Given the description of an element on the screen output the (x, y) to click on. 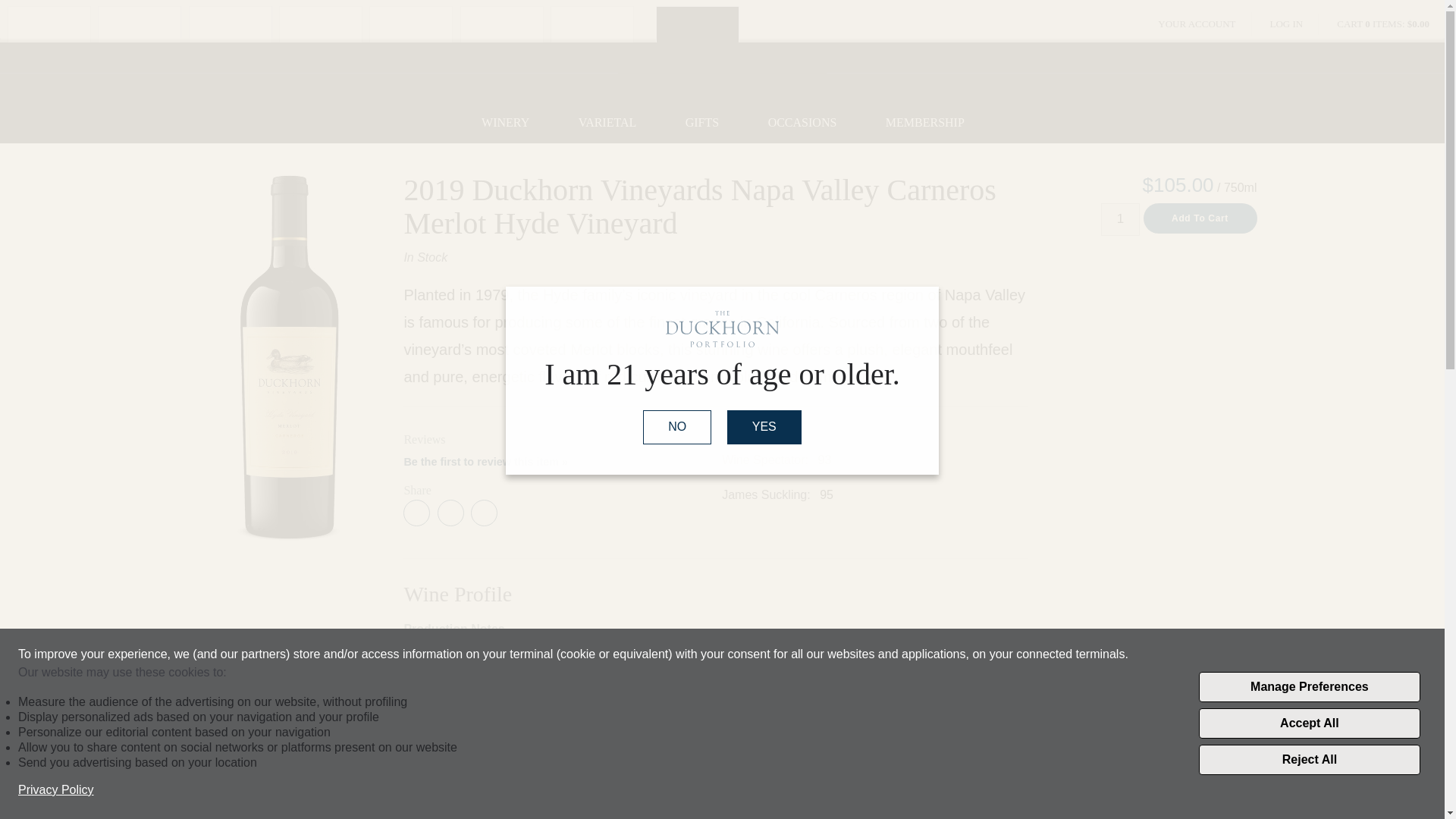
YES (764, 427)
Privacy Policy (55, 789)
LOG IN (1287, 24)
Duckhorn Portfolio Logo (721, 329)
Duckhorn Portfolio Logo (722, 72)
WINERY (504, 122)
Manage Preferences (1309, 686)
Duckhorn Portfolio Logo (721, 72)
1 (1120, 219)
NO (677, 427)
Reject All (1309, 759)
YOUR ACCOUNT (1196, 24)
Accept All (1309, 723)
VARIETAL (607, 122)
